Given the description of an element on the screen output the (x, y) to click on. 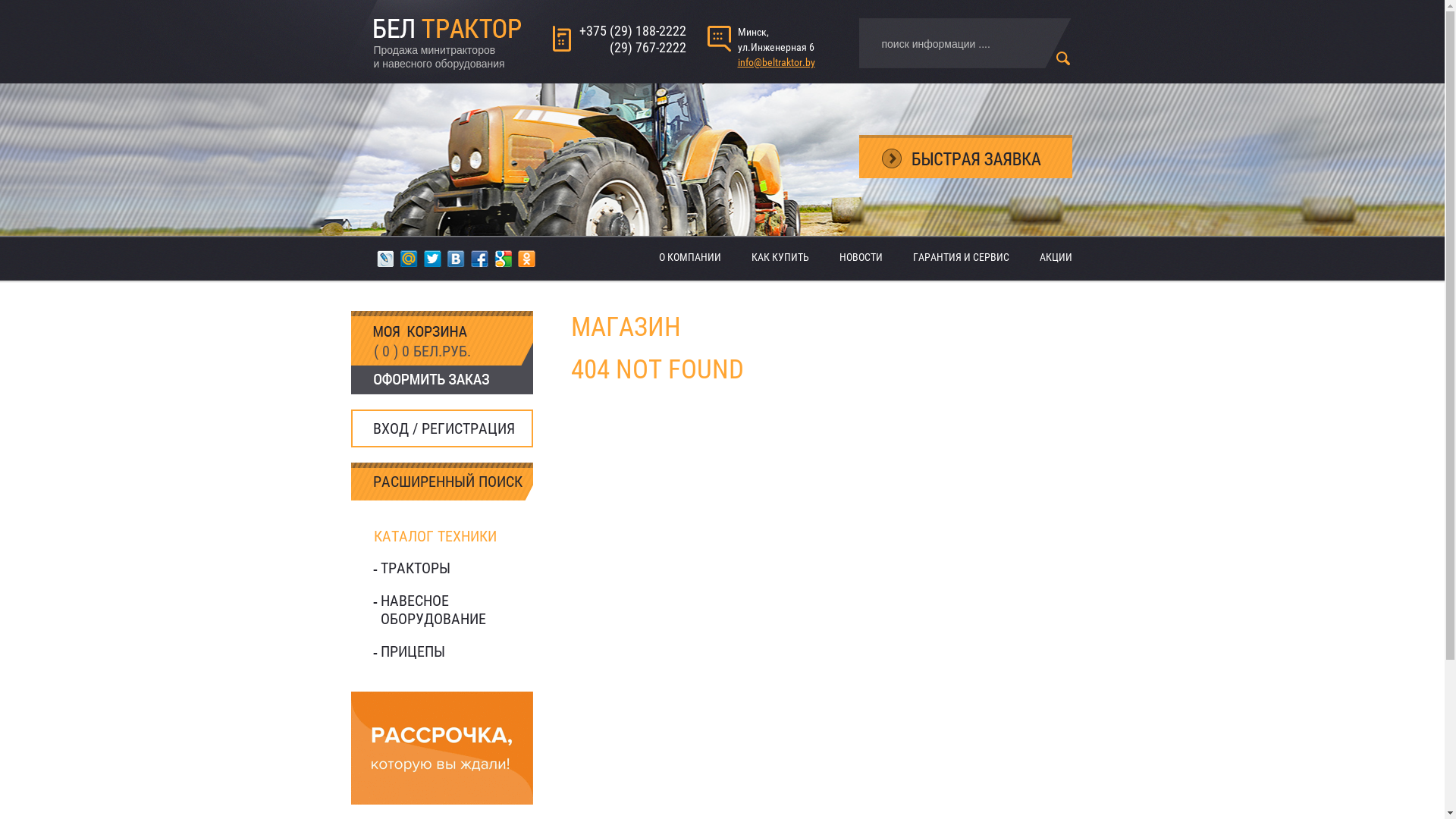
Google Plus Element type: hover (502, 258)
Facebook Element type: hover (478, 258)
LiveJournal Element type: hover (384, 258)
Twitter Element type: hover (431, 258)
info@beltraktor.by Element type: text (775, 62)
